Given the description of an element on the screen output the (x, y) to click on. 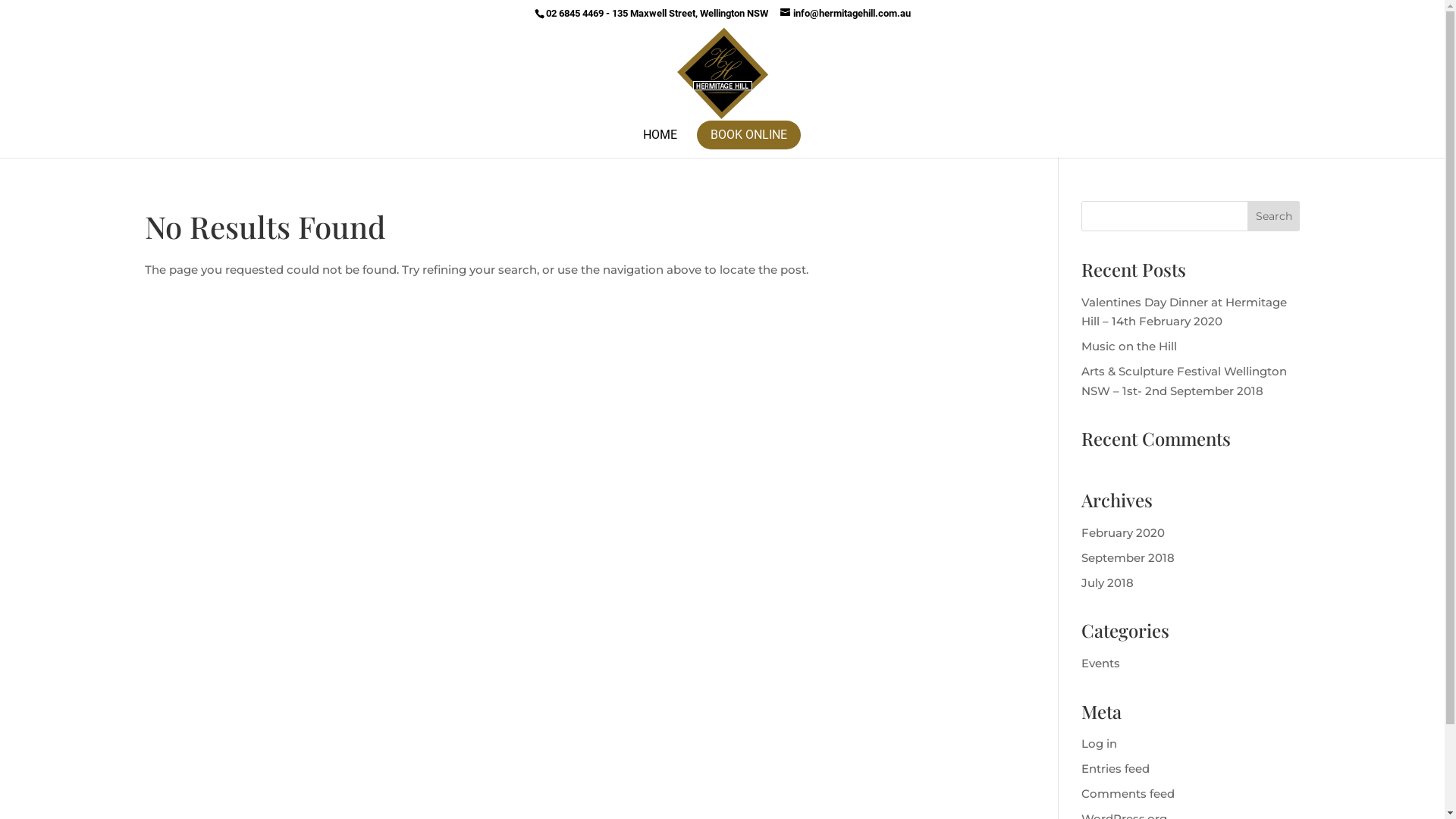
info@hermitagehill.com.au Element type: text (844, 12)
Log in Element type: text (1099, 743)
HOME Element type: text (660, 142)
July 2018 Element type: text (1107, 582)
September 2018 Element type: text (1127, 557)
Events Element type: text (1100, 662)
BOOK ONLINE Element type: text (748, 133)
Music on the Hill Element type: text (1128, 345)
Comments feed Element type: text (1127, 793)
02 6845 4469 Element type: text (574, 12)
Entries feed Element type: text (1115, 768)
February 2020 Element type: text (1122, 532)
Search Element type: text (1273, 215)
